Given the description of an element on the screen output the (x, y) to click on. 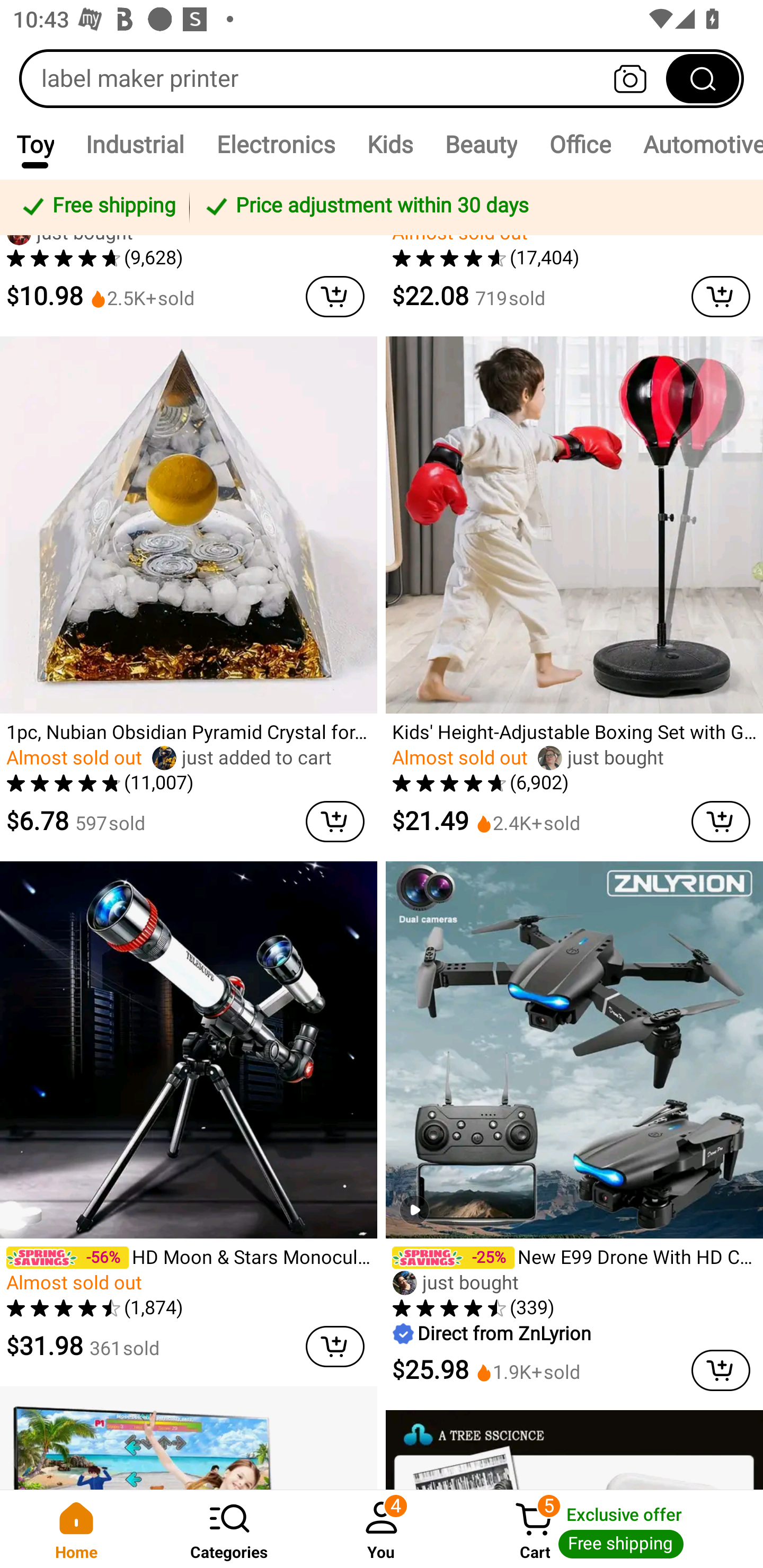
label maker printer (381, 78)
Toy (35, 144)
Industrial (134, 144)
Electronics (274, 144)
Kids (389, 144)
Beauty (480, 144)
Office (580, 144)
Free shipping (97, 206)
Price adjustment within 30 days (472, 206)
cart delete (334, 295)
cart delete (720, 295)
cart delete (334, 821)
cart delete (720, 821)
cart delete (334, 1346)
cart delete (720, 1370)
Home (76, 1528)
Categories (228, 1528)
You 4 You (381, 1528)
Cart 5 Cart Exclusive offer (610, 1528)
